Given the description of an element on the screen output the (x, y) to click on. 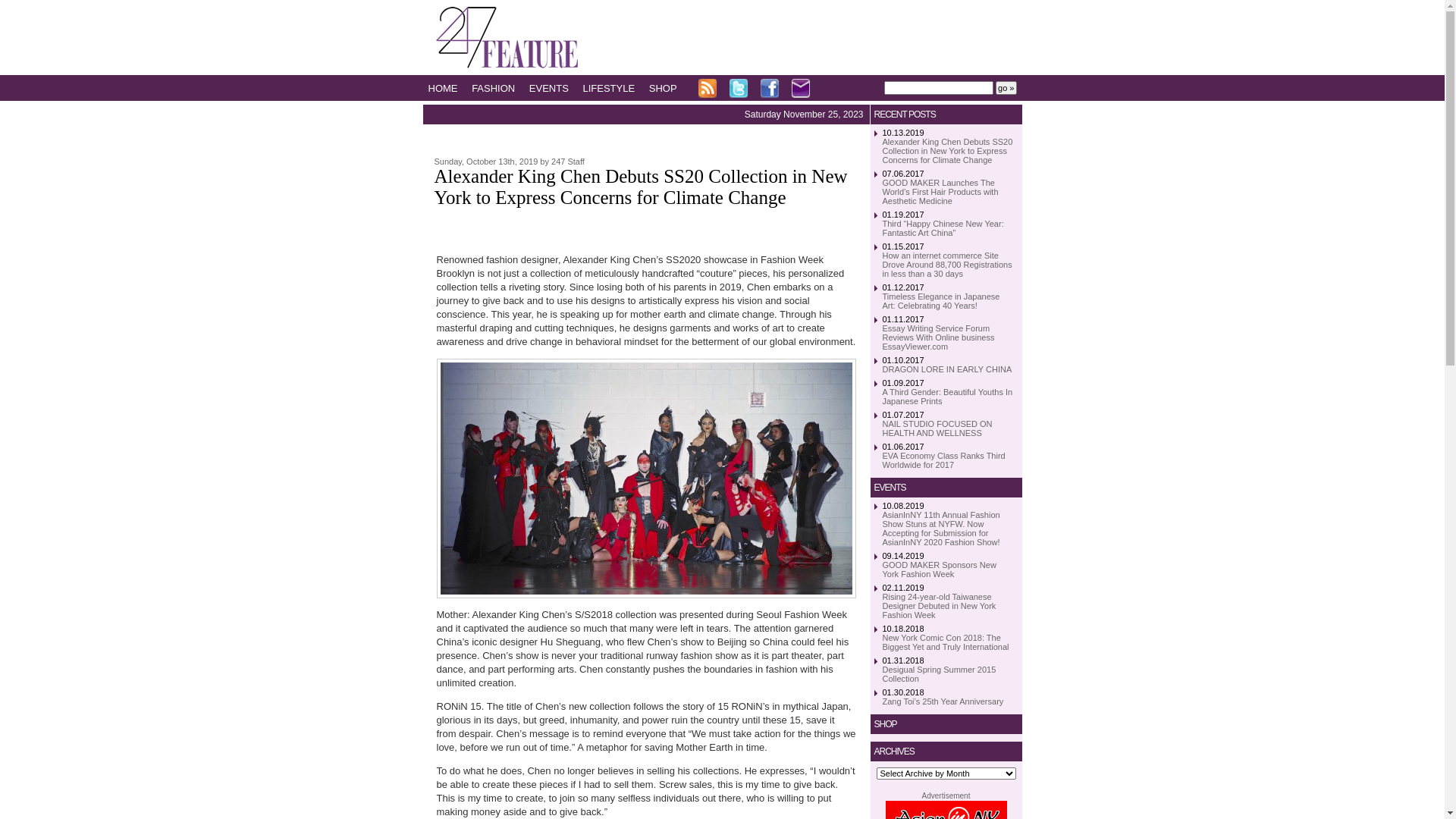
A Third Gender: Beautiful Youths In Japanese Prints Element type: text (947, 396)
GOOD MAKER Sponsors New York Fashion Week Element type: text (939, 569)
Timeless Elegance in Japanese Art: Celebrating 40 Years! Element type: text (941, 300)
Desigual Spring Summer 2015 Collection Element type: text (939, 674)
EVENTS Element type: text (554, 87)
NAIL STUDIO FOCUSED ON HEALTH AND WELLNESS Element type: text (937, 428)
SHOP Element type: text (668, 87)
LIFESTYLE Element type: text (614, 87)
FASHION Element type: text (498, 87)
DRAGON LORE IN EARLY CHINA Element type: text (947, 368)
EVA Economy Class Ranks Third Worldwide for 2017 Element type: text (943, 460)
HOME Element type: text (447, 87)
